Given the description of an element on the screen output the (x, y) to click on. 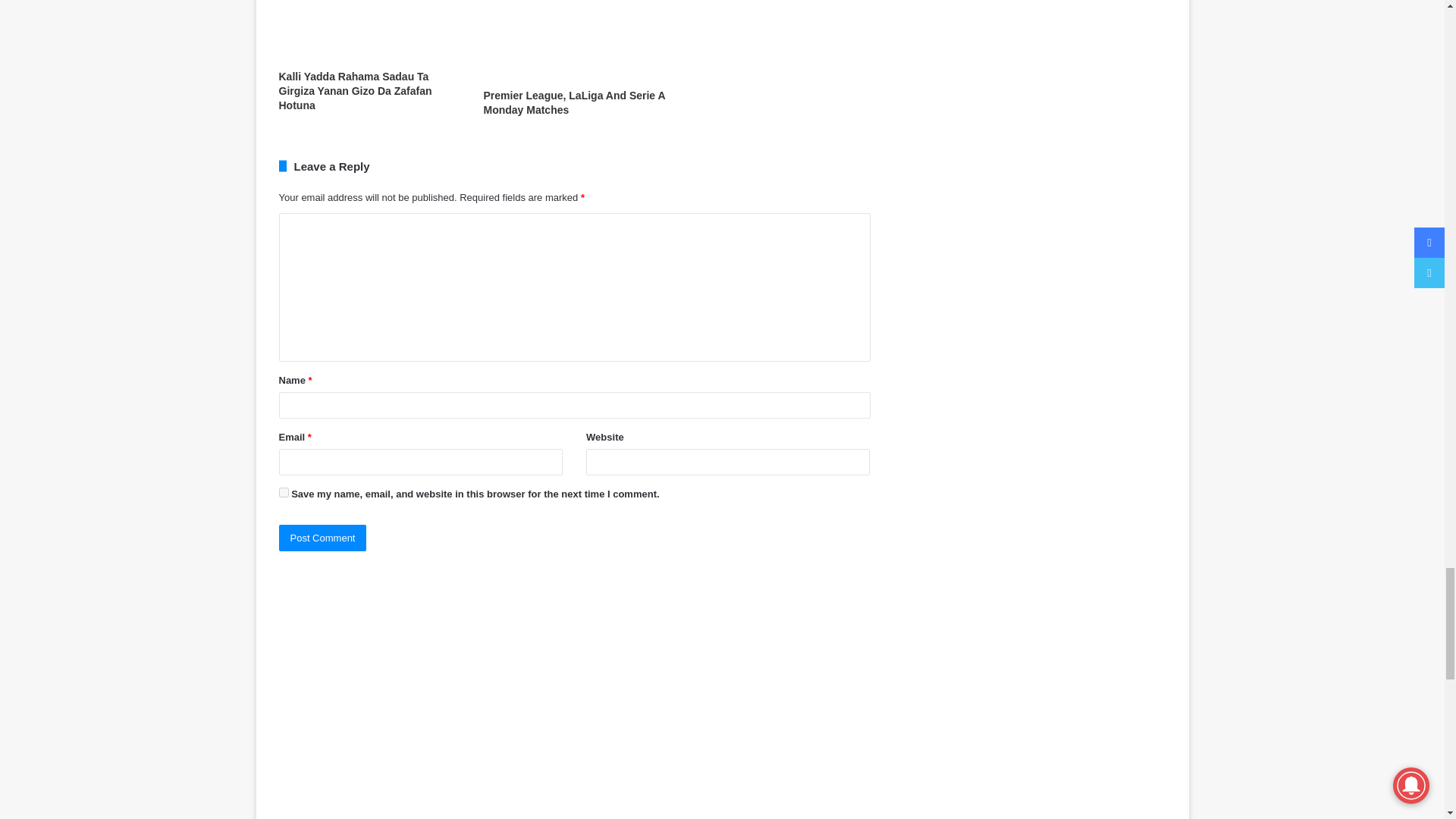
yes (283, 492)
Post Comment (322, 537)
